Given the description of an element on the screen output the (x, y) to click on. 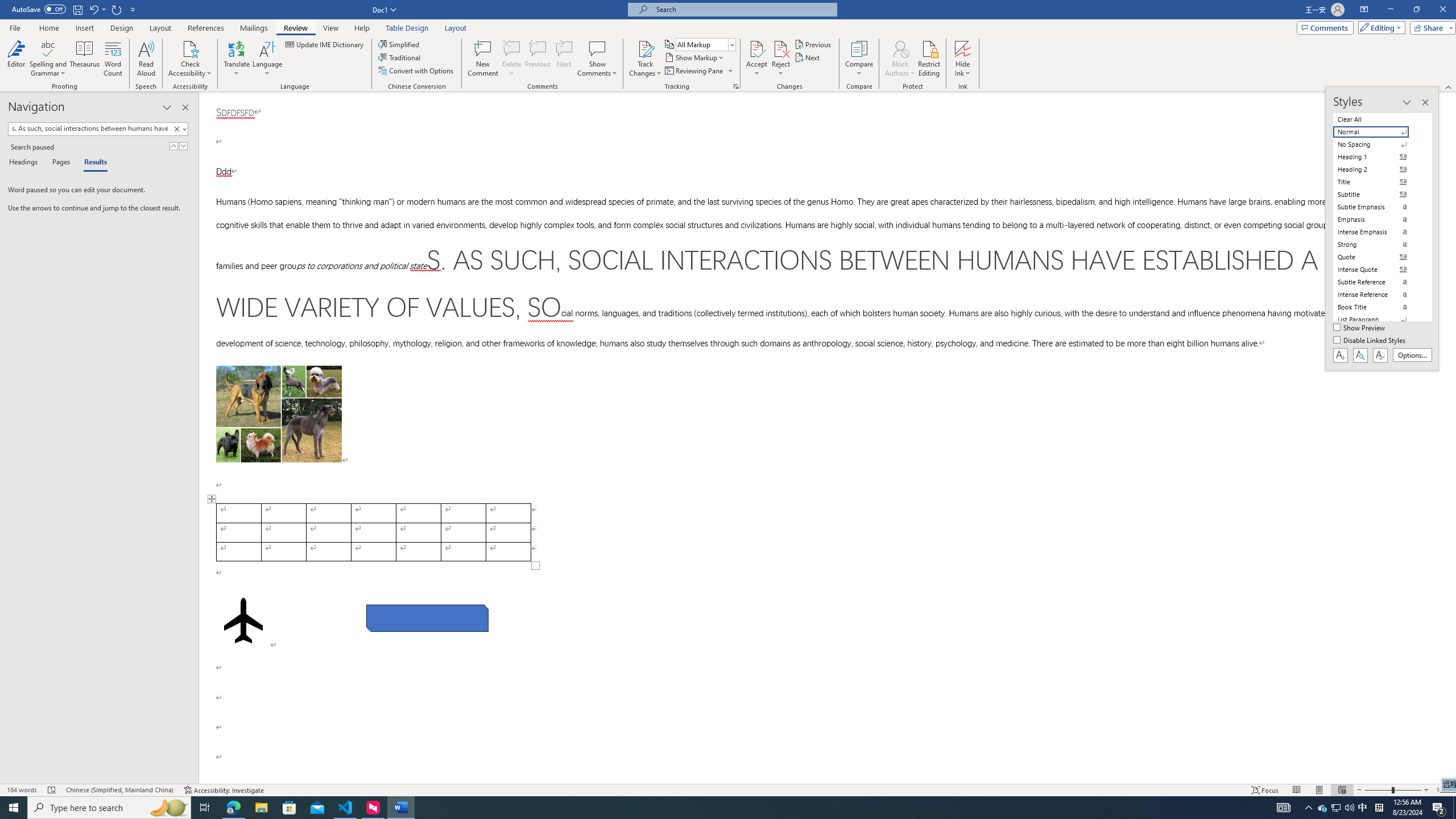
Read Aloud (145, 58)
Compare (859, 58)
Heading 2 (1377, 169)
Book Title (1377, 306)
Change Tracking Options... (735, 85)
Emphasis (1377, 219)
Show Comments (597, 58)
